Given the description of an element on the screen output the (x, y) to click on. 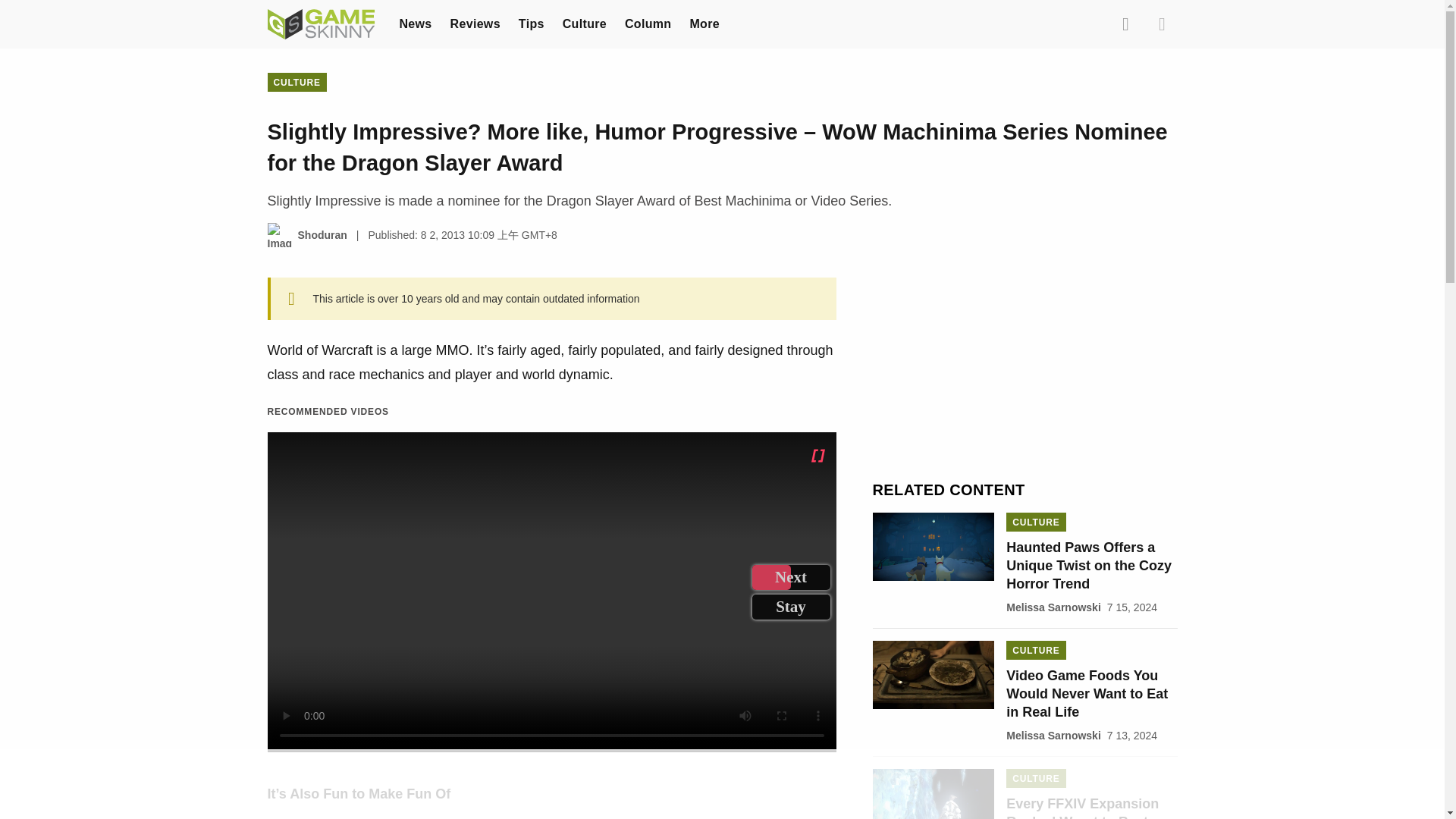
Column (647, 23)
CULTURE (296, 81)
Search (1124, 24)
Reviews (474, 23)
Culture (584, 23)
Tips (531, 23)
3rd party ad content (721, 785)
Dark Mode (1161, 24)
3rd party ad content (1024, 371)
News (414, 23)
